Given the description of an element on the screen output the (x, y) to click on. 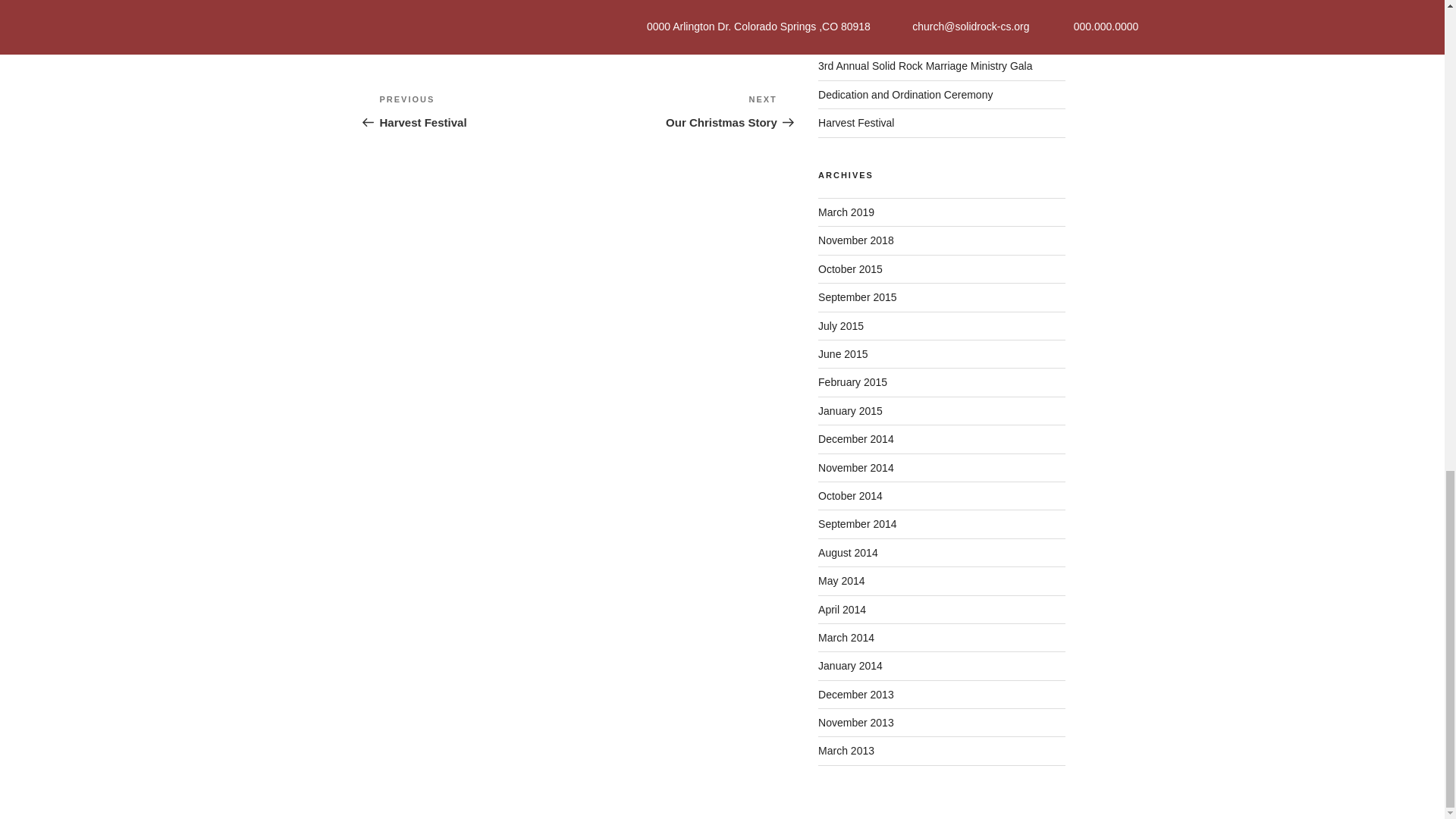
PASTORS' CORNER (478, 111)
